Given the description of an element on the screen output the (x, y) to click on. 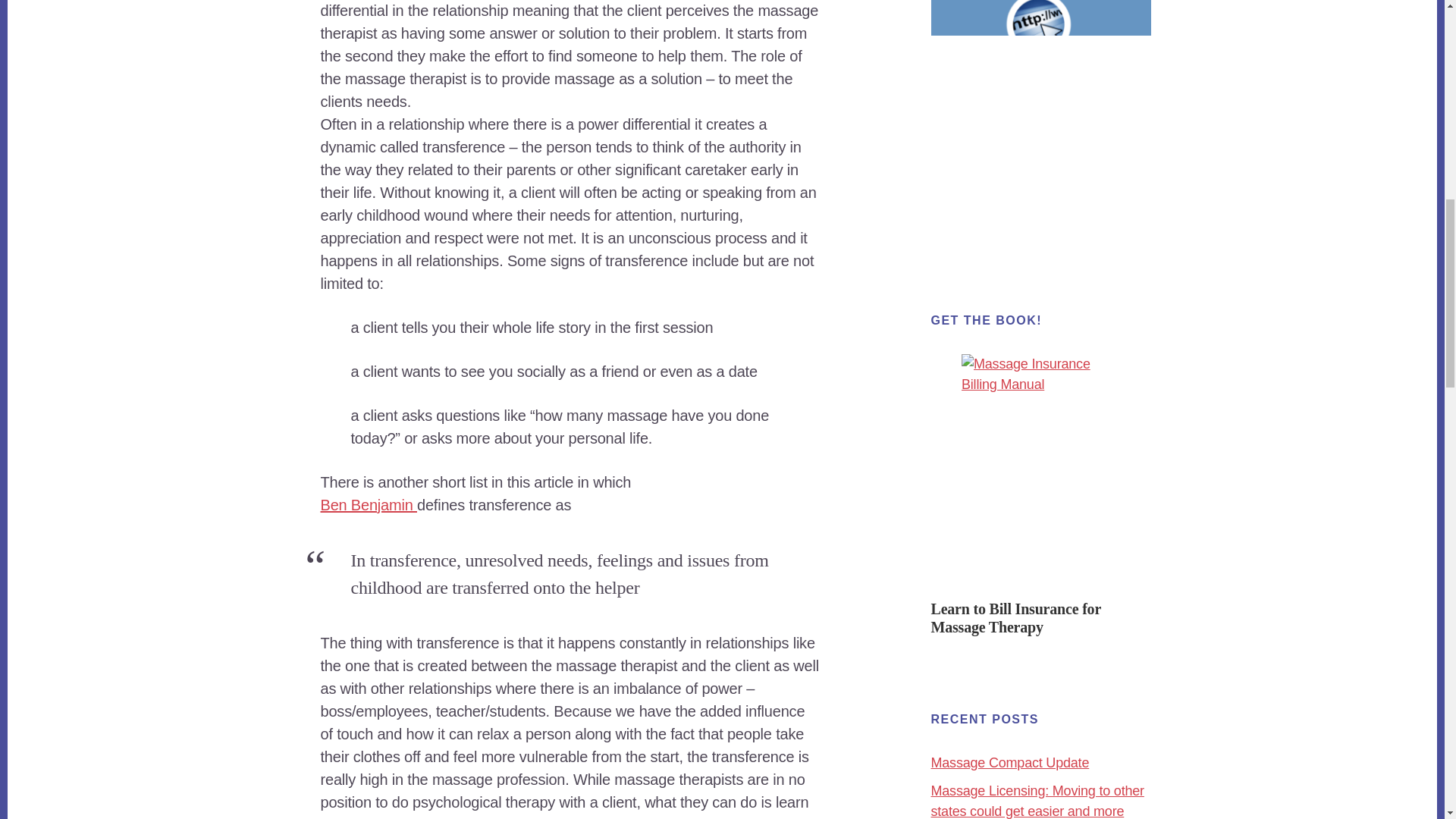
Massage Compact Update (1010, 762)
Ben Benjamin (368, 504)
Learn to Bill Insurance for Massage Therapy (1015, 617)
